Given the description of an element on the screen output the (x, y) to click on. 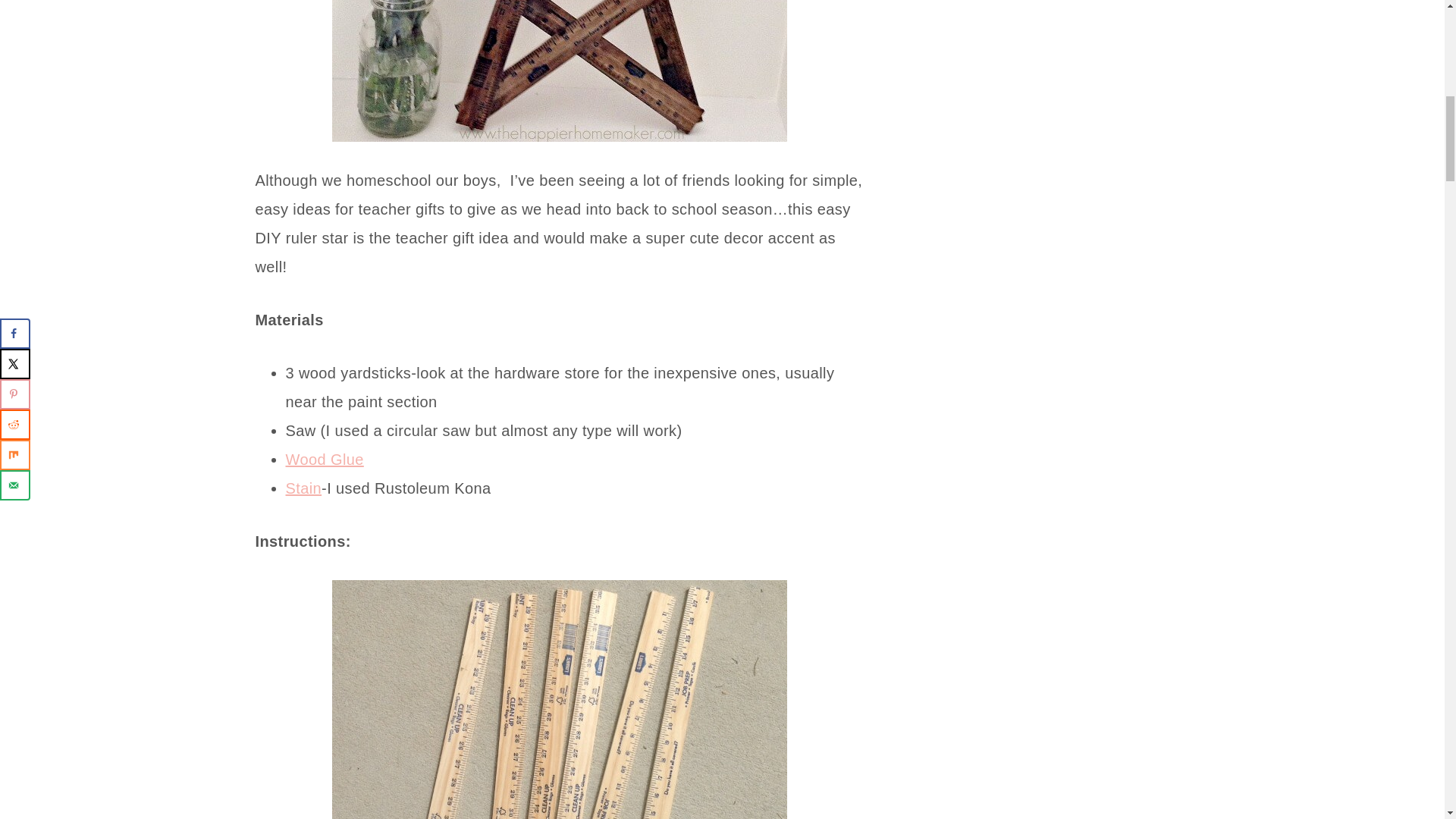
Wood Glue (323, 459)
Stain (303, 487)
